Given the description of an element on the screen output the (x, y) to click on. 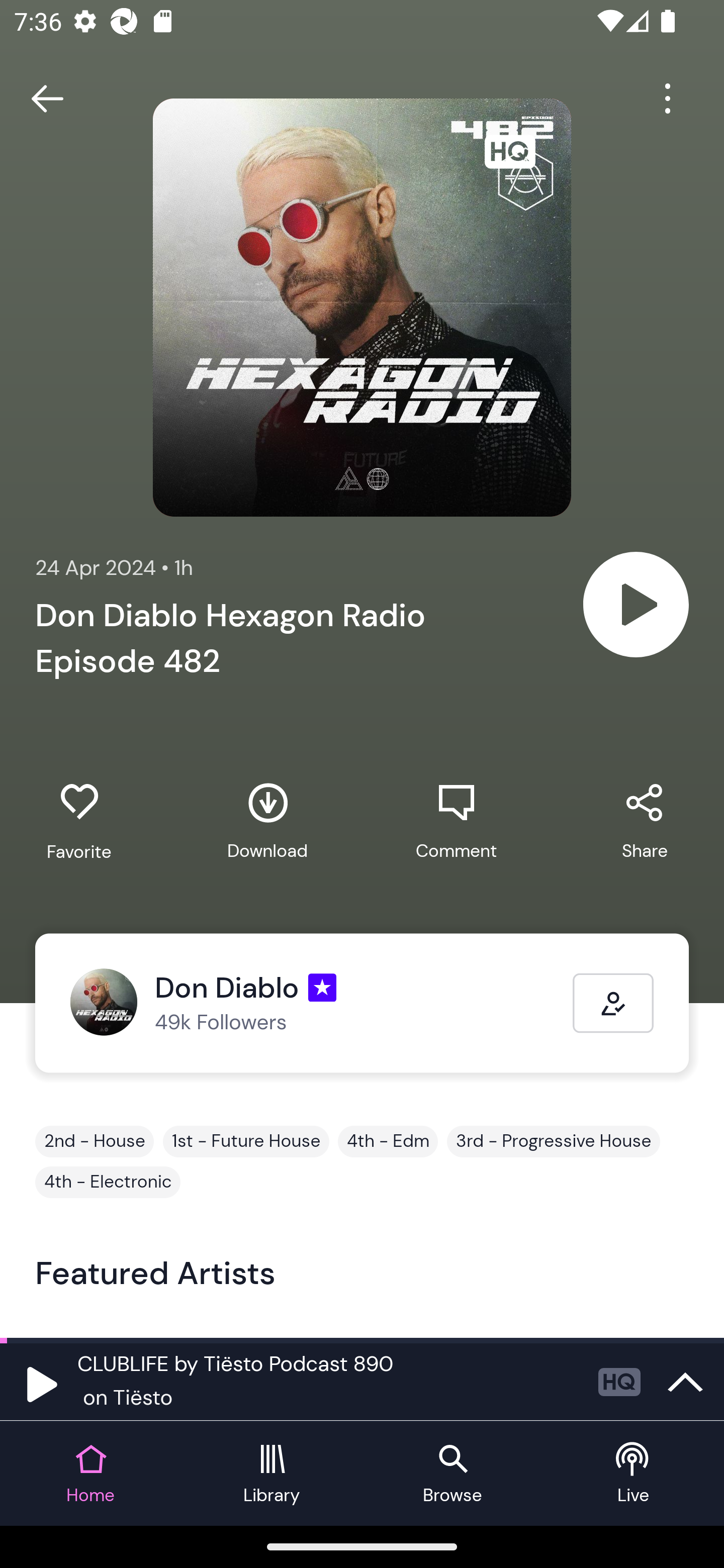
Favorite (79, 821)
Download (267, 821)
Comment (455, 821)
Share (644, 821)
Don Diablo, 49k Followers Don Diablo 49k Followers (321, 1003)
Following (612, 1003)
2nd - House (94, 1141)
1st - Future House (245, 1141)
4th - Edm (388, 1141)
3rd - Progressive House (553, 1141)
4th - Electronic (107, 1181)
Home tab Home (90, 1473)
Library tab Library (271, 1473)
Browse tab Browse (452, 1473)
Live tab Live (633, 1473)
